Given the description of an element on the screen output the (x, y) to click on. 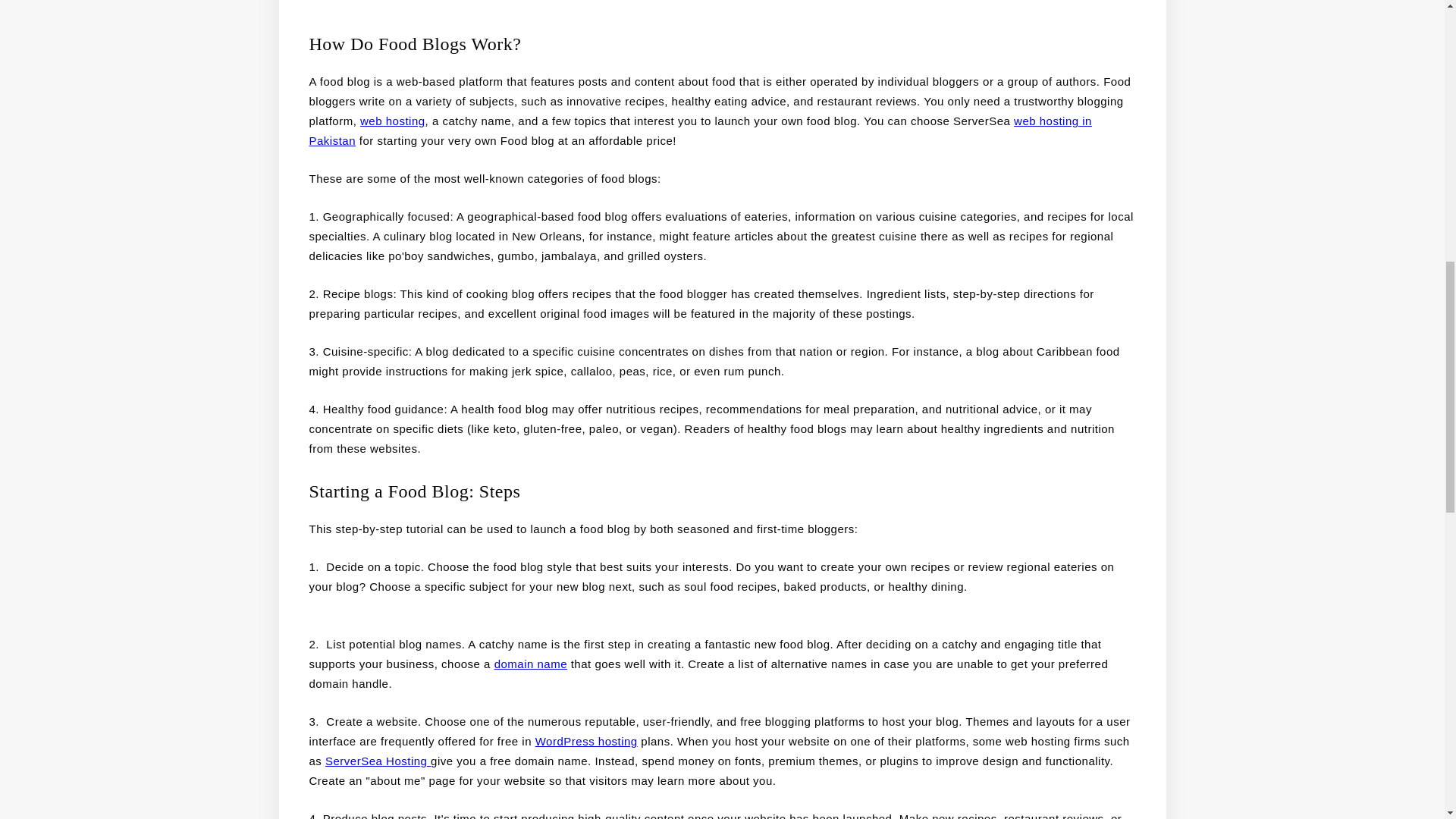
web hosting in Pakistan (700, 130)
WordPress hosting (586, 740)
web hosting (392, 120)
domain name (531, 663)
ServerSea Hosting (377, 760)
